Given the description of an element on the screen output the (x, y) to click on. 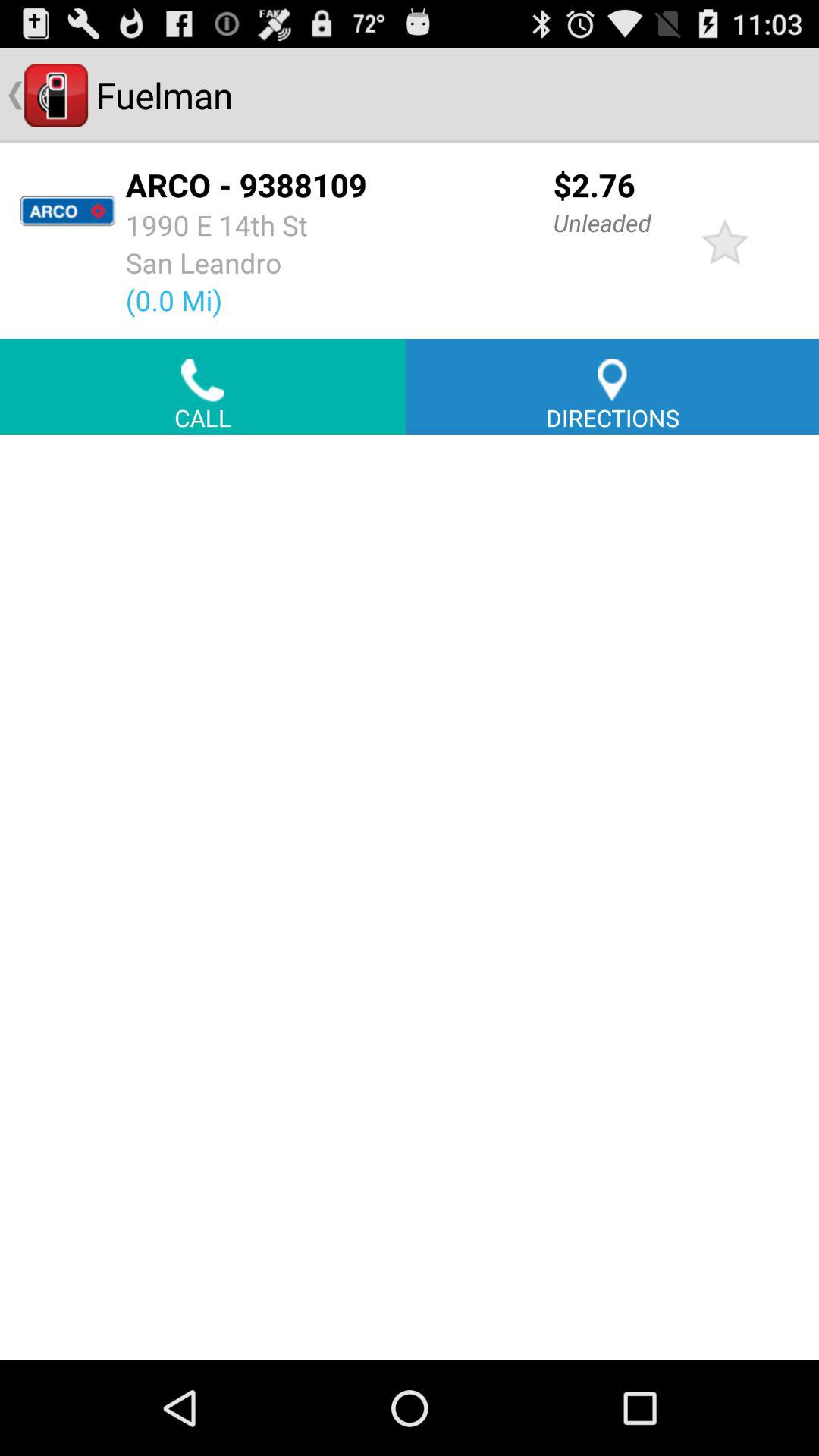
tap the icon above directions icon (724, 240)
